Given the description of an element on the screen output the (x, y) to click on. 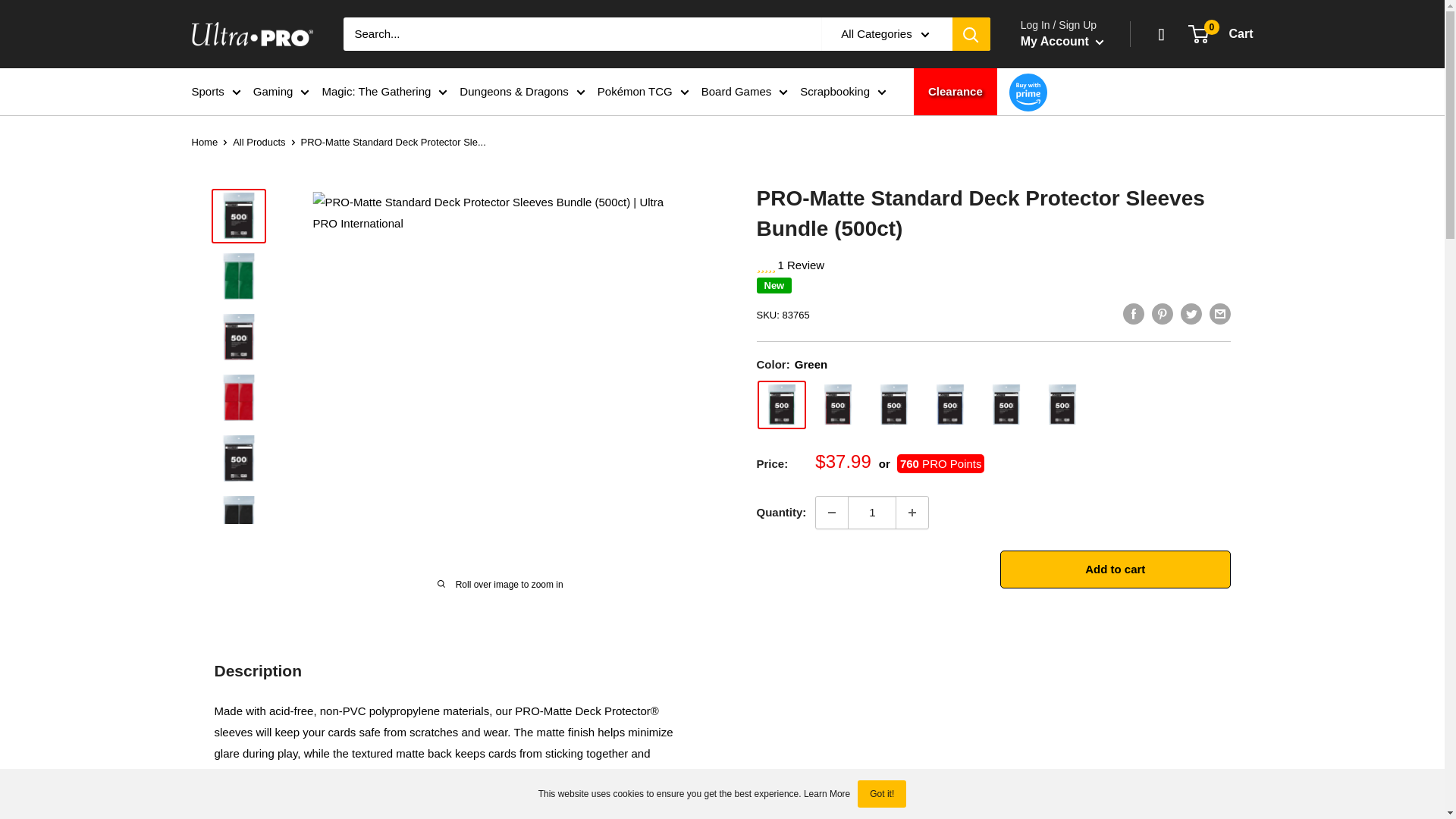
Learn More (826, 793)
Got it! (881, 793)
Decrease quantity by 1 (831, 512)
Clear (1005, 404)
Blue (949, 404)
Green (781, 404)
Black (893, 404)
Increase quantity by 1 (912, 512)
Red (836, 404)
1 (871, 512)
White (1061, 404)
